Given the description of an element on the screen output the (x, y) to click on. 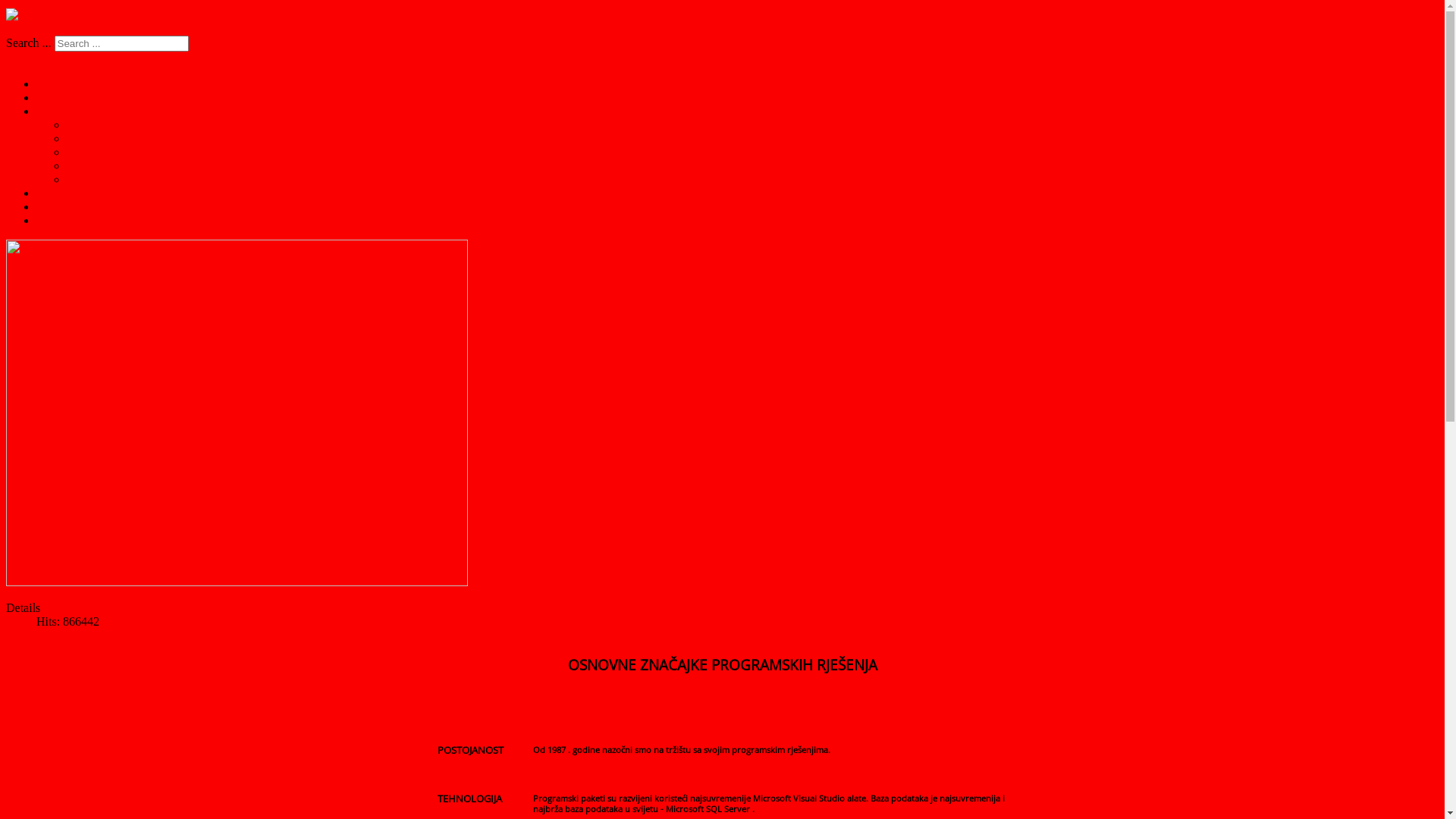
Download Element type: text (61, 110)
O nama Element type: text (55, 219)
Verzija 19 Element type: text (91, 151)
Kontakt Element type: text (55, 206)
Komp-ing d.o.o. Vitez Element type: text (90, 83)
Reference Element type: text (60, 192)
Verzija 20 Element type: text (91, 165)
Toggle Navigation Element type: text (51, 57)
Programi Element type: text (58, 97)
Verzija 21 Element type: text (91, 178)
